Given the description of an element on the screen output the (x, y) to click on. 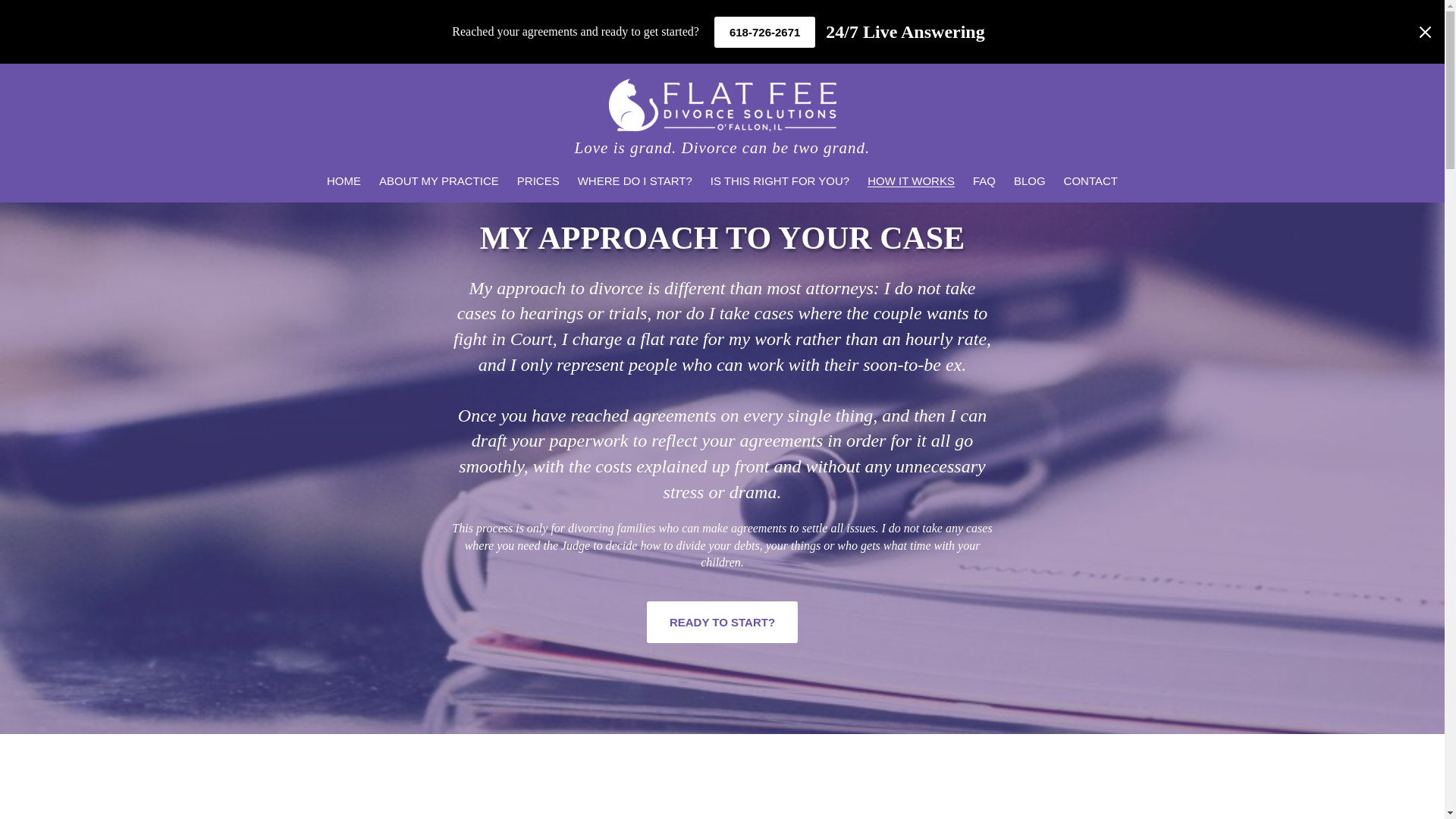
ABOUT MY PRACTICE (438, 180)
BLOG (1029, 180)
WHERE DO I START? (635, 180)
PRICES (537, 180)
FAQ (983, 180)
IS THIS RIGHT FOR YOU? (779, 180)
HOME (343, 180)
Love is grand. Divorce can be two grand. (722, 147)
CONTACT (1091, 180)
READY TO START? (721, 621)
